Given the description of an element on the screen output the (x, y) to click on. 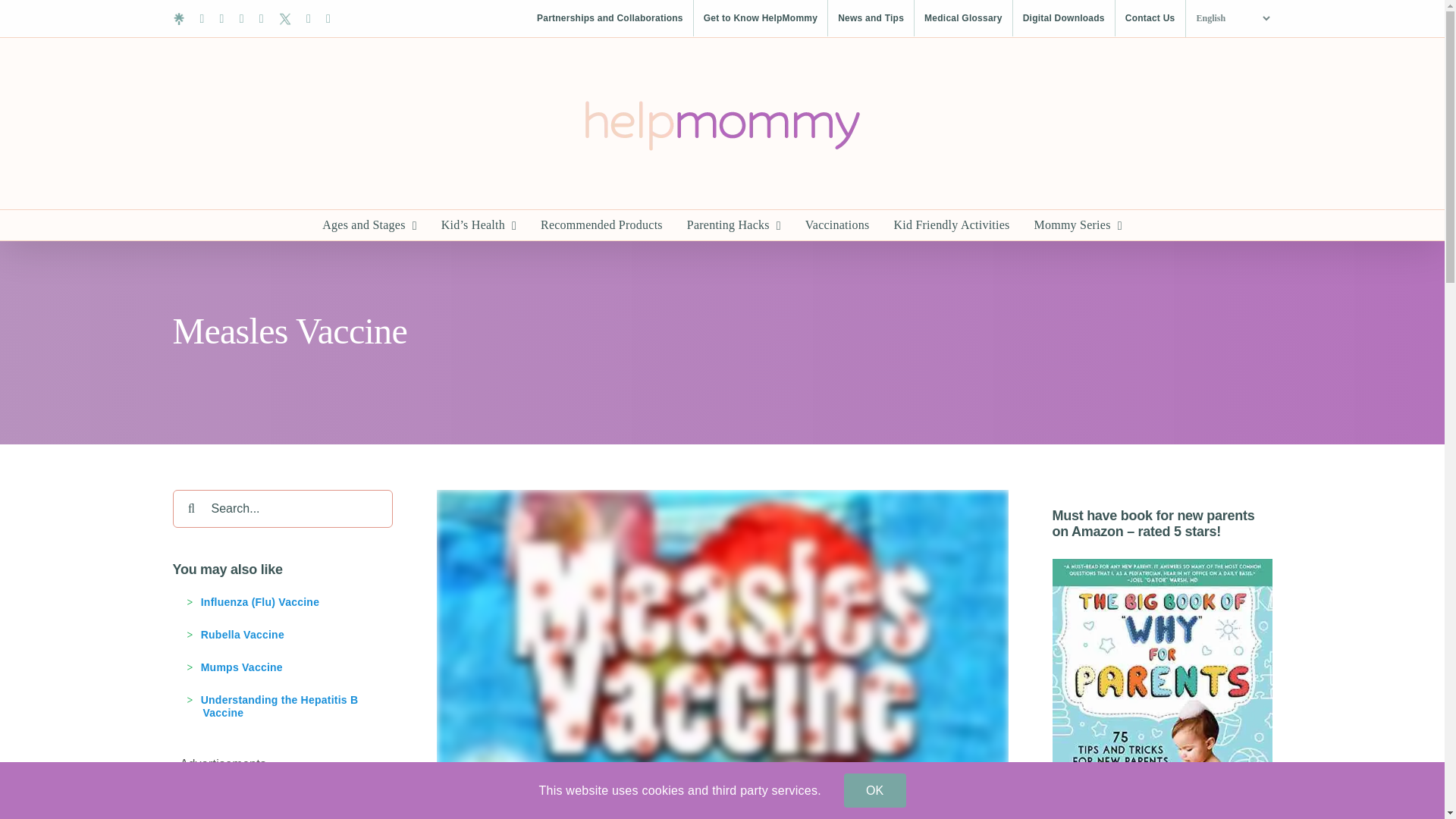
Linktree (178, 19)
Medical Glossary (962, 18)
Digital Downloads (1064, 18)
Partnerships and Collaborations (610, 18)
Ages and Stages (369, 224)
Get to Know HelpMommy (760, 18)
Contact Us (1150, 18)
News and Tips (871, 18)
Linktree (178, 19)
